Given the description of an element on the screen output the (x, y) to click on. 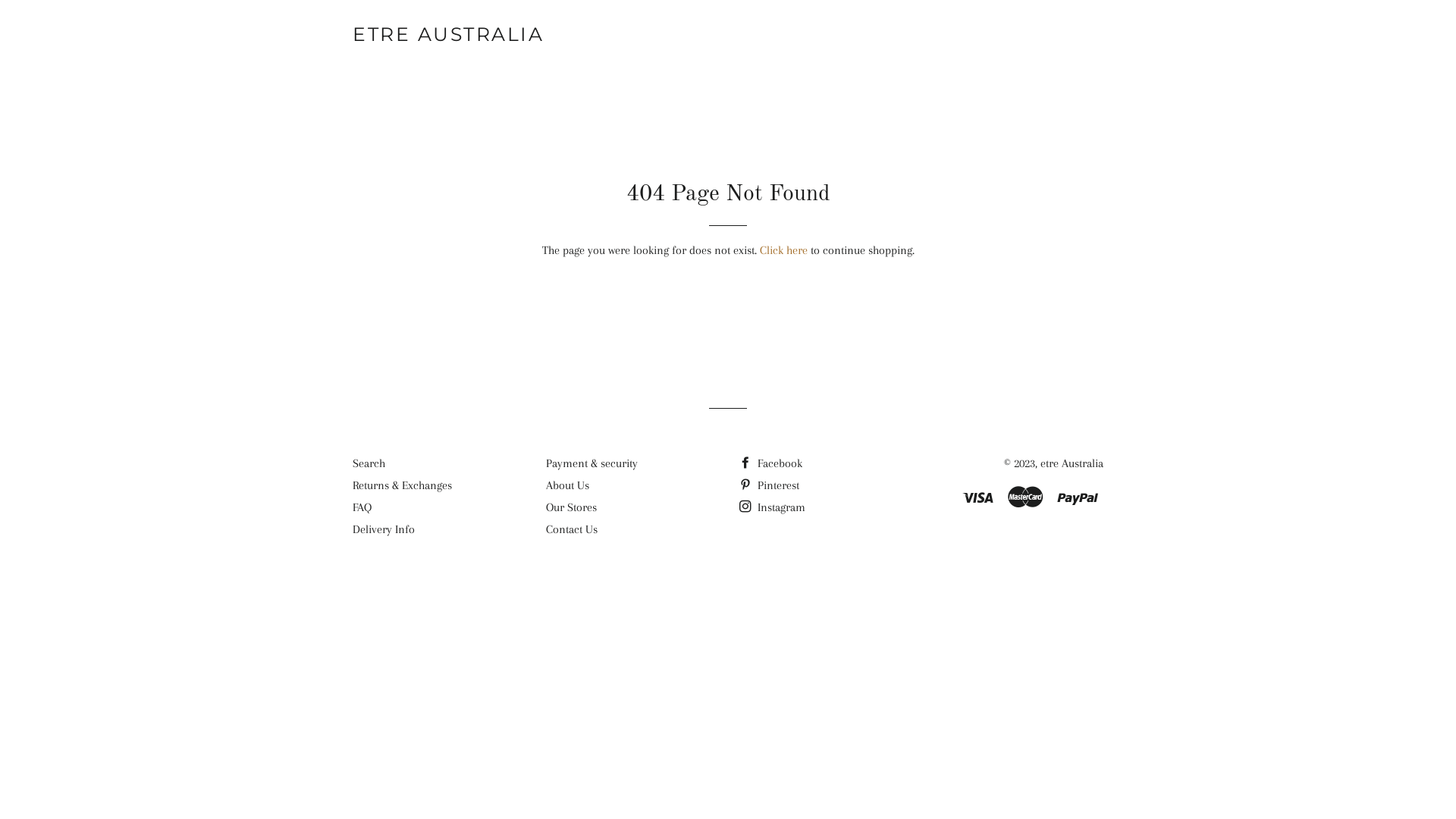
Contact Us Element type: text (571, 529)
FAQ Element type: text (361, 507)
Instagram Element type: text (772, 507)
Click here Element type: text (783, 250)
Delivery Info Element type: text (383, 529)
Facebook Element type: text (770, 463)
Pinterest Element type: text (769, 485)
About Us Element type: text (567, 485)
etre Australia Element type: text (1071, 463)
Our Stores Element type: text (571, 507)
Search Element type: text (368, 463)
Returns & Exchanges Element type: text (401, 485)
Payment & security Element type: text (591, 463)
ETRE AUSTRALIA Element type: text (447, 34)
